Given the description of an element on the screen output the (x, y) to click on. 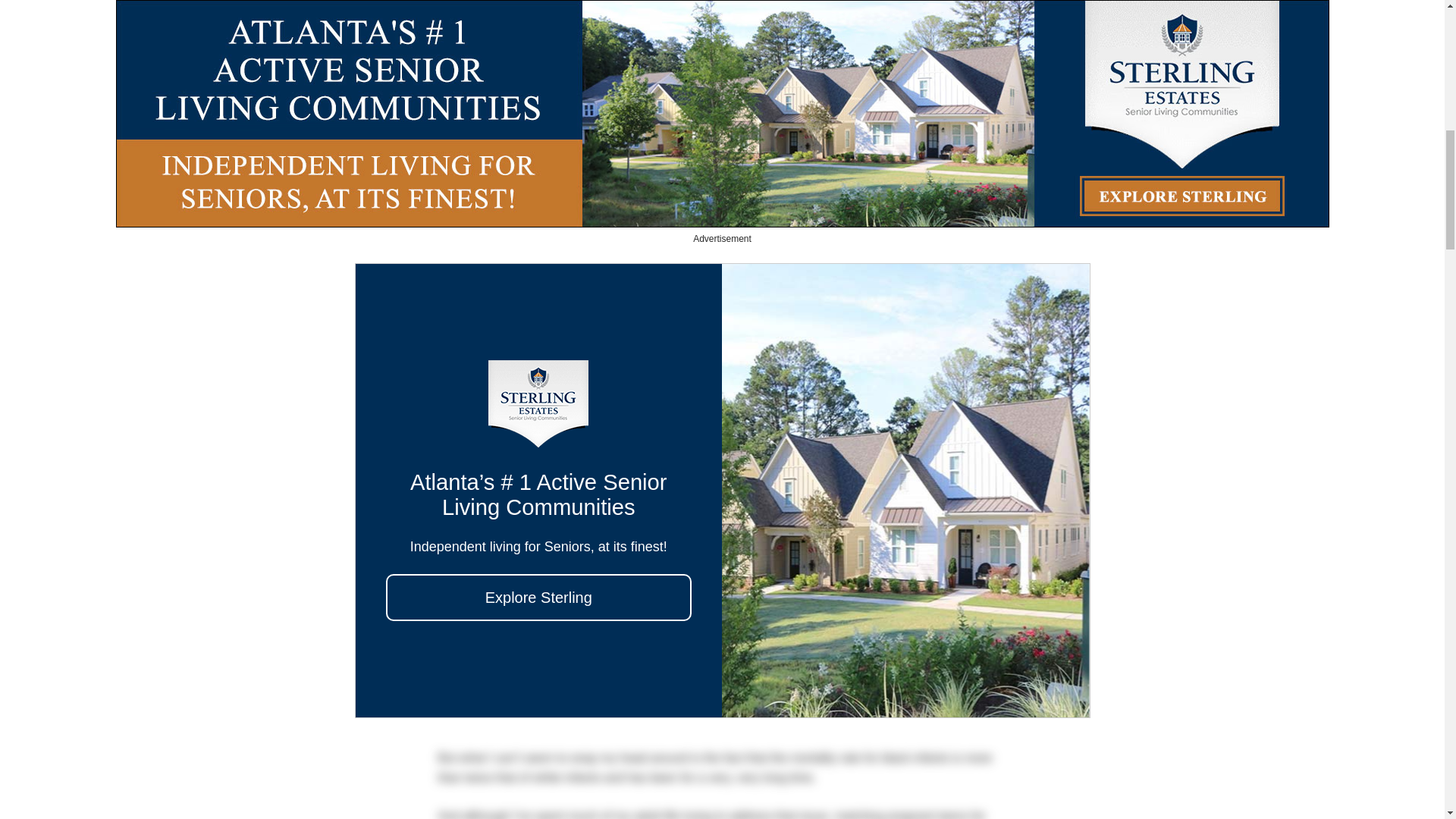
Combined Shape (417, 24)
